Given the description of an element on the screen output the (x, y) to click on. 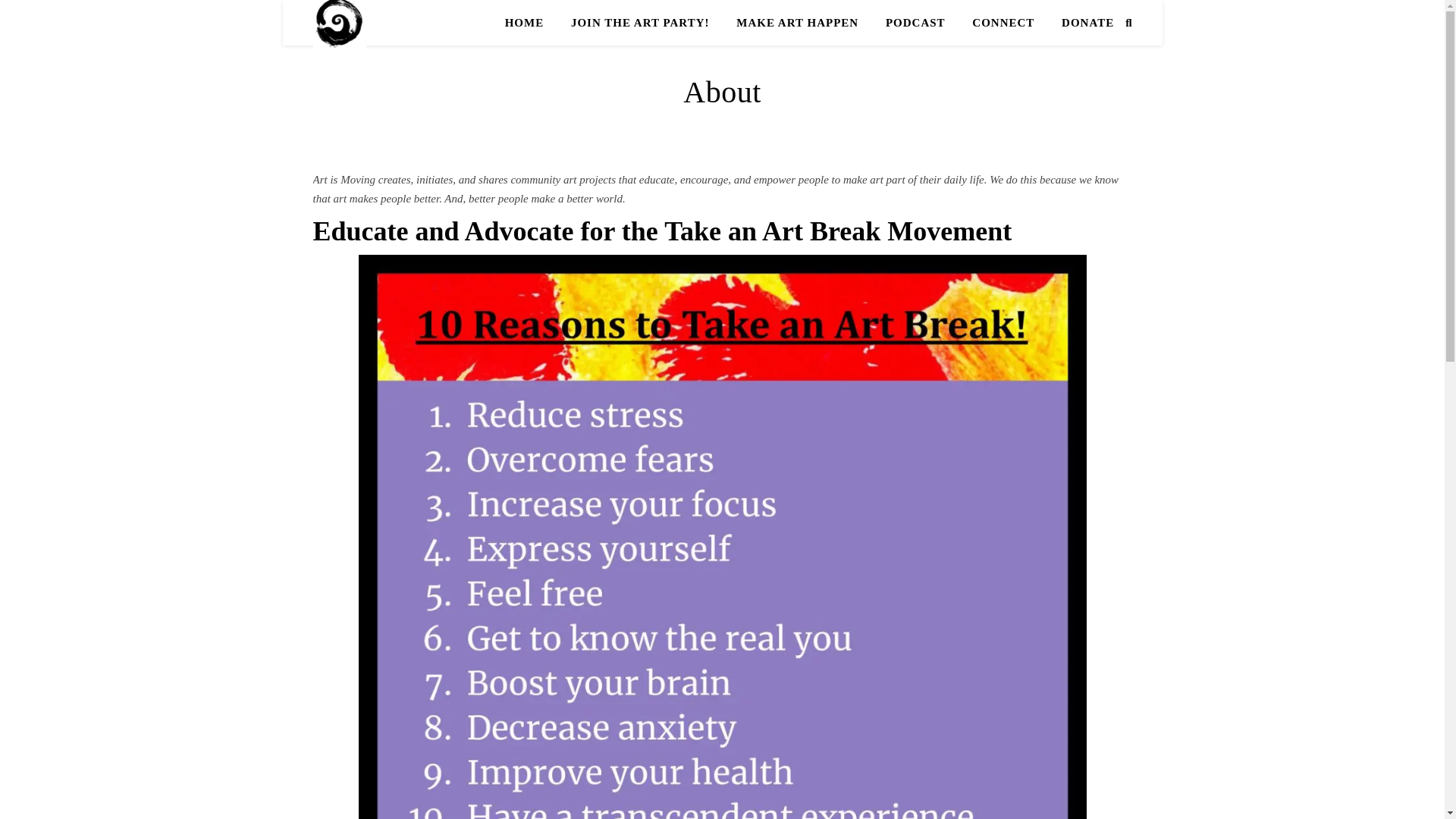
DONATE (1081, 22)
HOME (530, 22)
PODCAST (915, 22)
JOIN THE ART PARTY! (640, 22)
MAKE ART HAPPEN (796, 22)
CONNECT (1002, 22)
Art is Moving (339, 24)
